Given the description of an element on the screen output the (x, y) to click on. 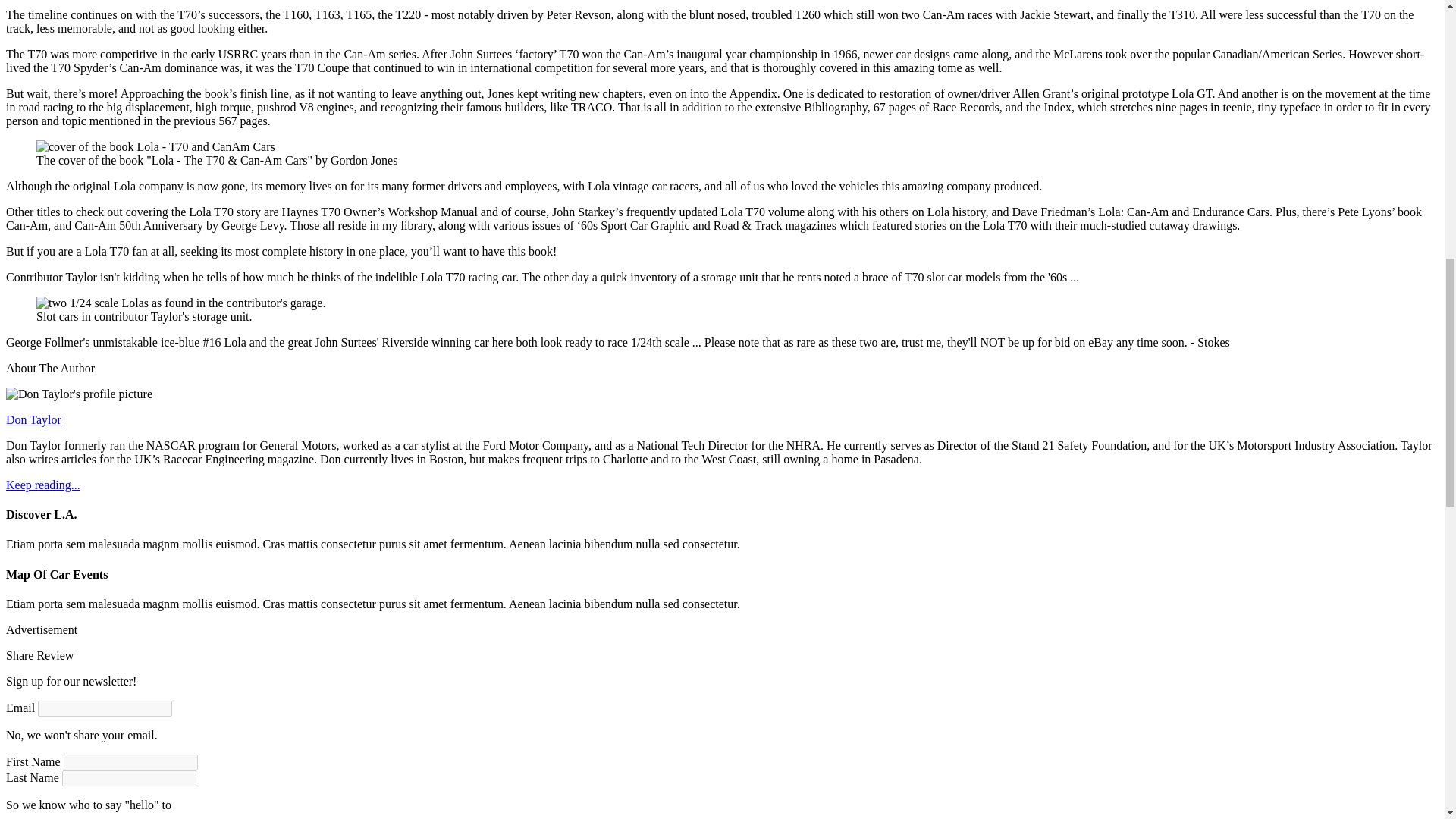
Keep reading... (42, 484)
Don Taylor (33, 419)
